Given the description of an element on the screen output the (x, y) to click on. 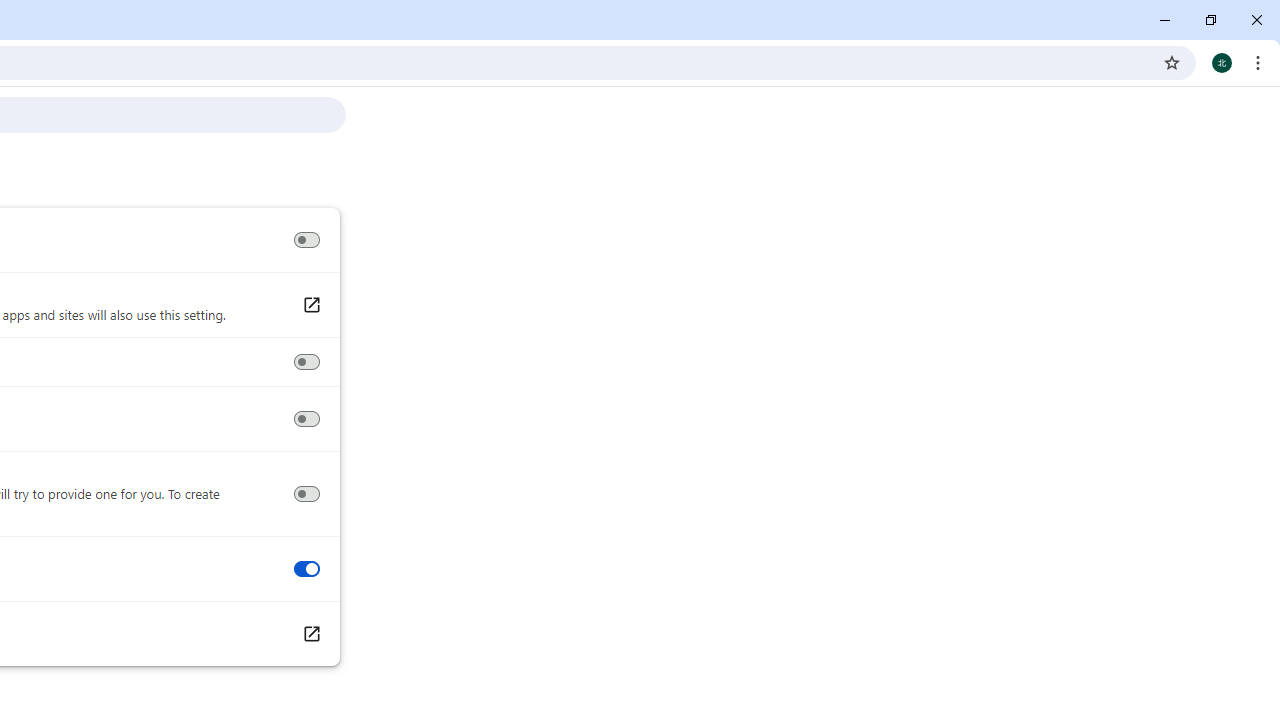
Swipe between pages (306, 569)
Get image descriptions from Google (306, 494)
Add accessibility features Open Chrome Web Store (310, 633)
Show a quick highlight on the focused object (306, 362)
Live Caption (306, 240)
Navigate pages with a text cursor (306, 419)
